Given the description of an element on the screen output the (x, y) to click on. 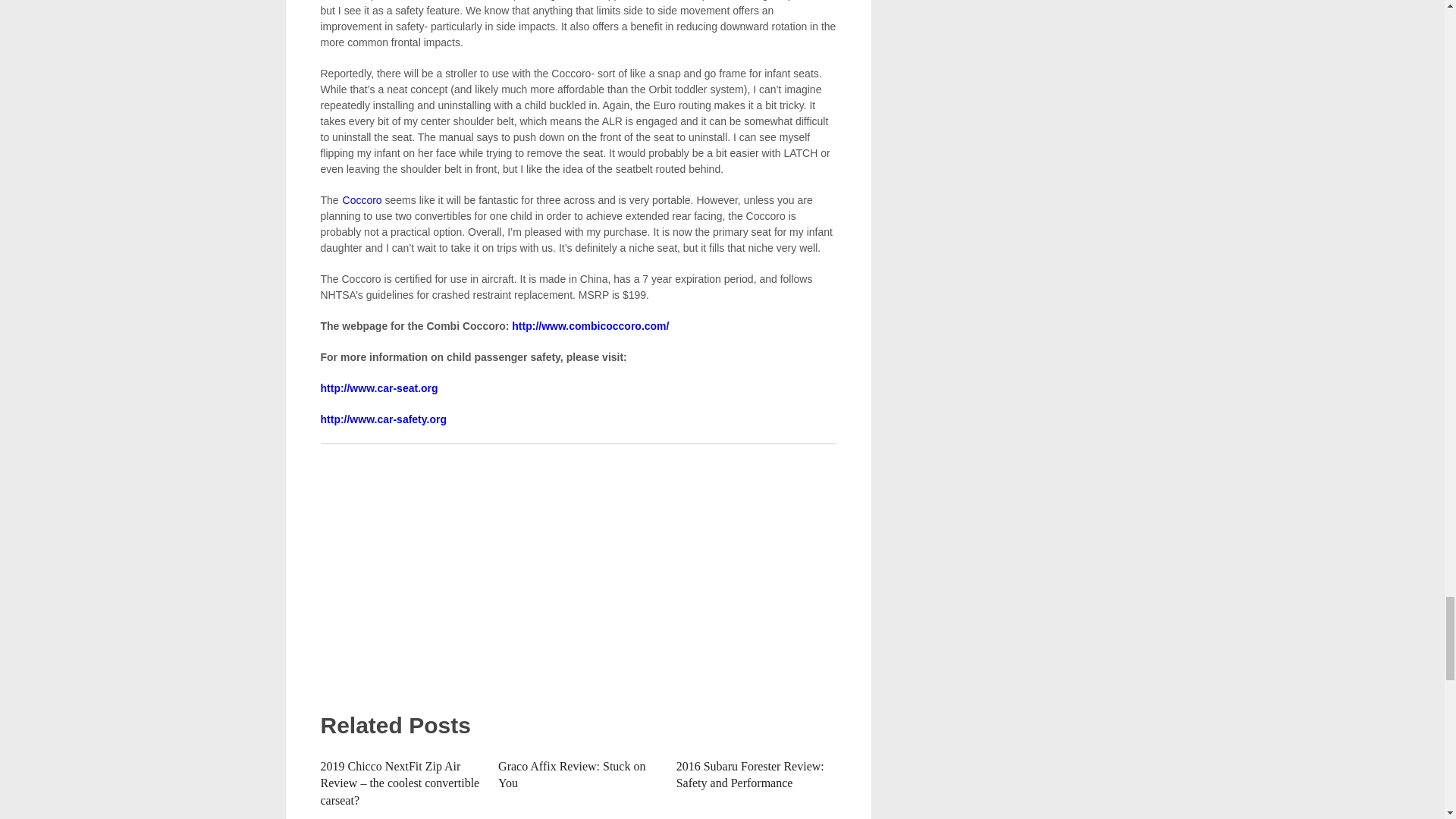
Graco Affix Review: Stuck on You (571, 774)
